Given the description of an element on the screen output the (x, y) to click on. 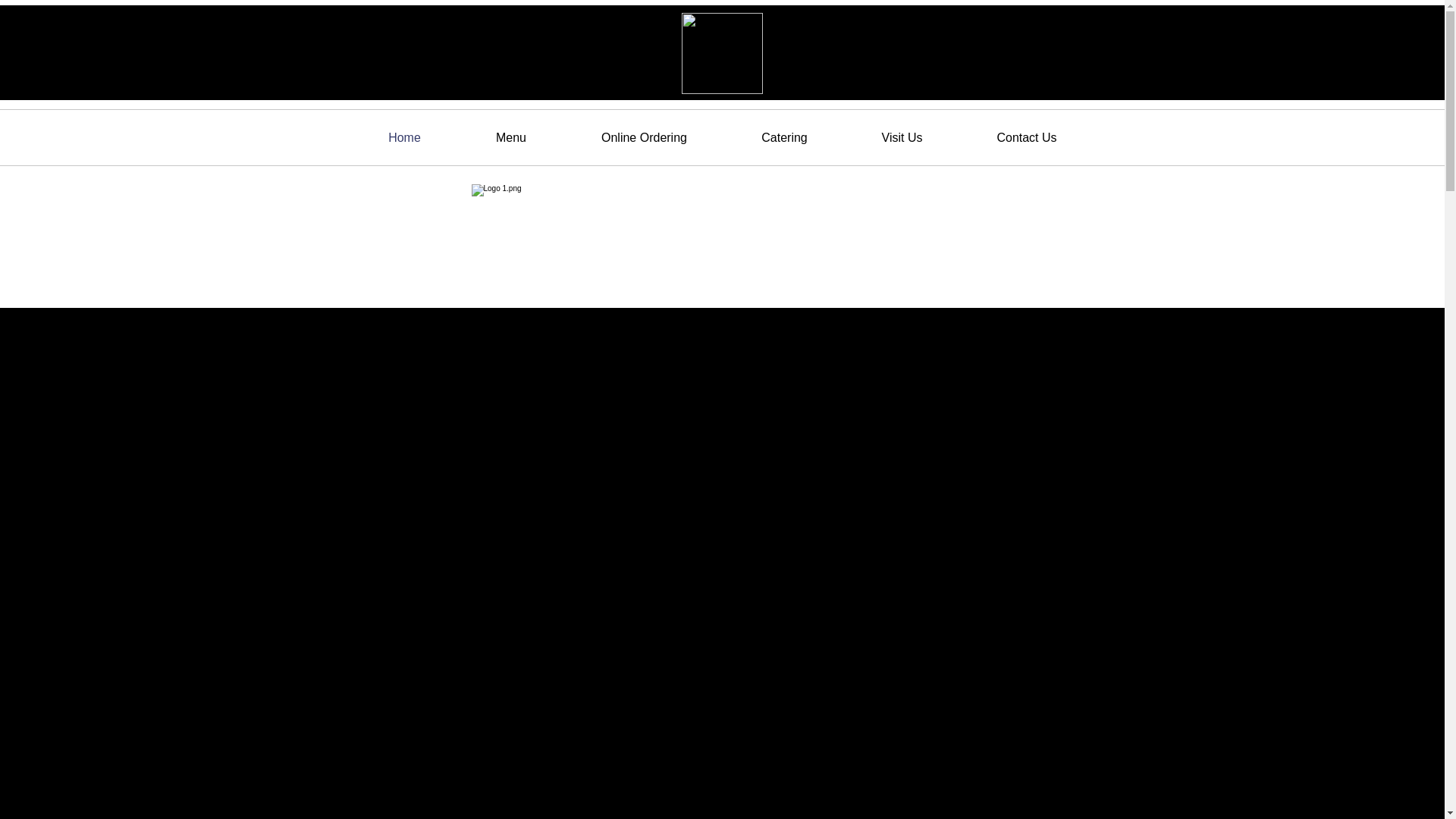
white logo.png (721, 53)
Visit Us (901, 137)
Catering (784, 137)
Menu (510, 137)
Contact Us (1026, 137)
Online Ordering (644, 137)
Home (404, 137)
